Given the description of an element on the screen output the (x, y) to click on. 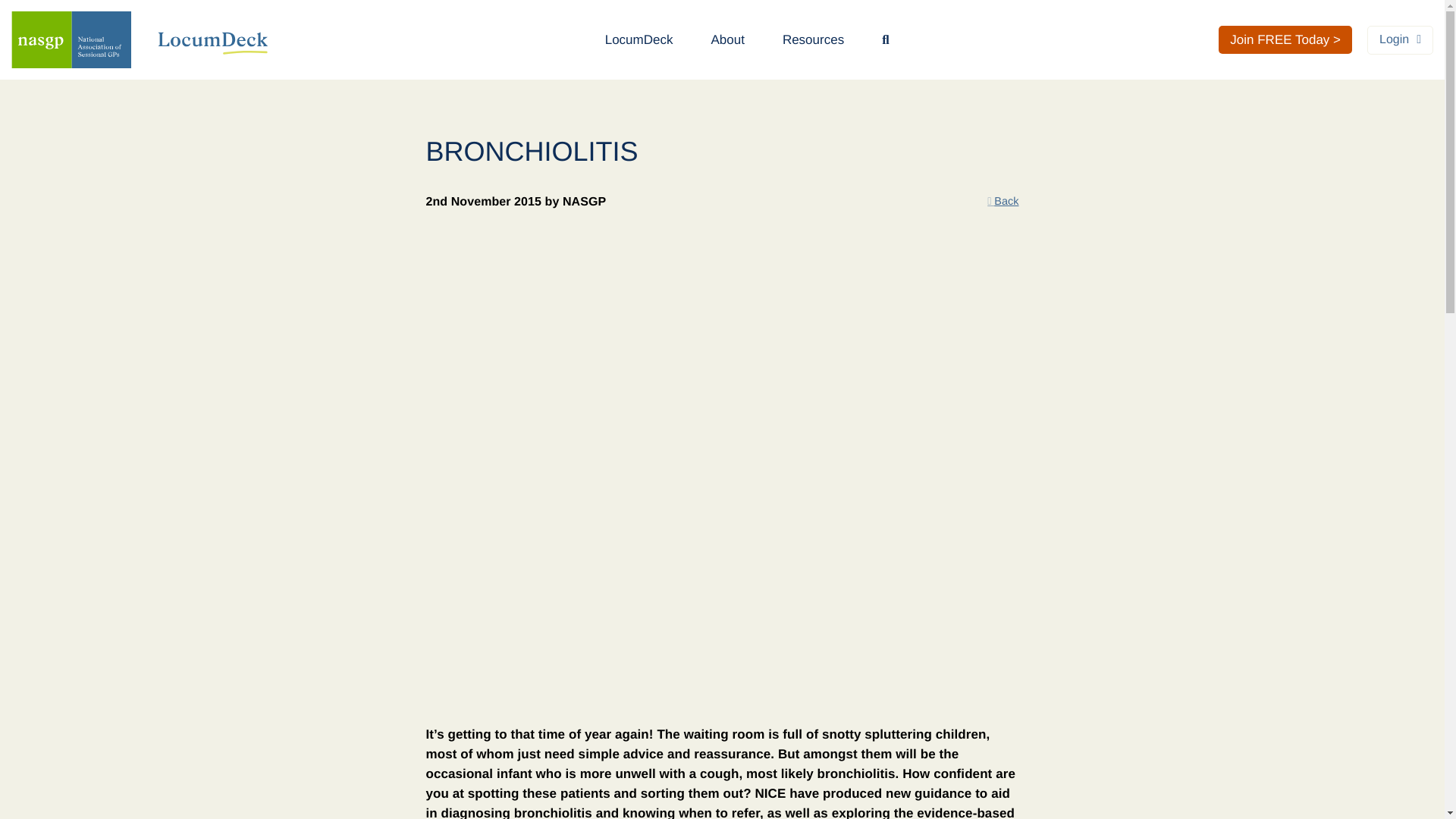
Login (1399, 39)
LocumDeck (639, 39)
About (726, 39)
Resources (813, 39)
